Given the description of an element on the screen output the (x, y) to click on. 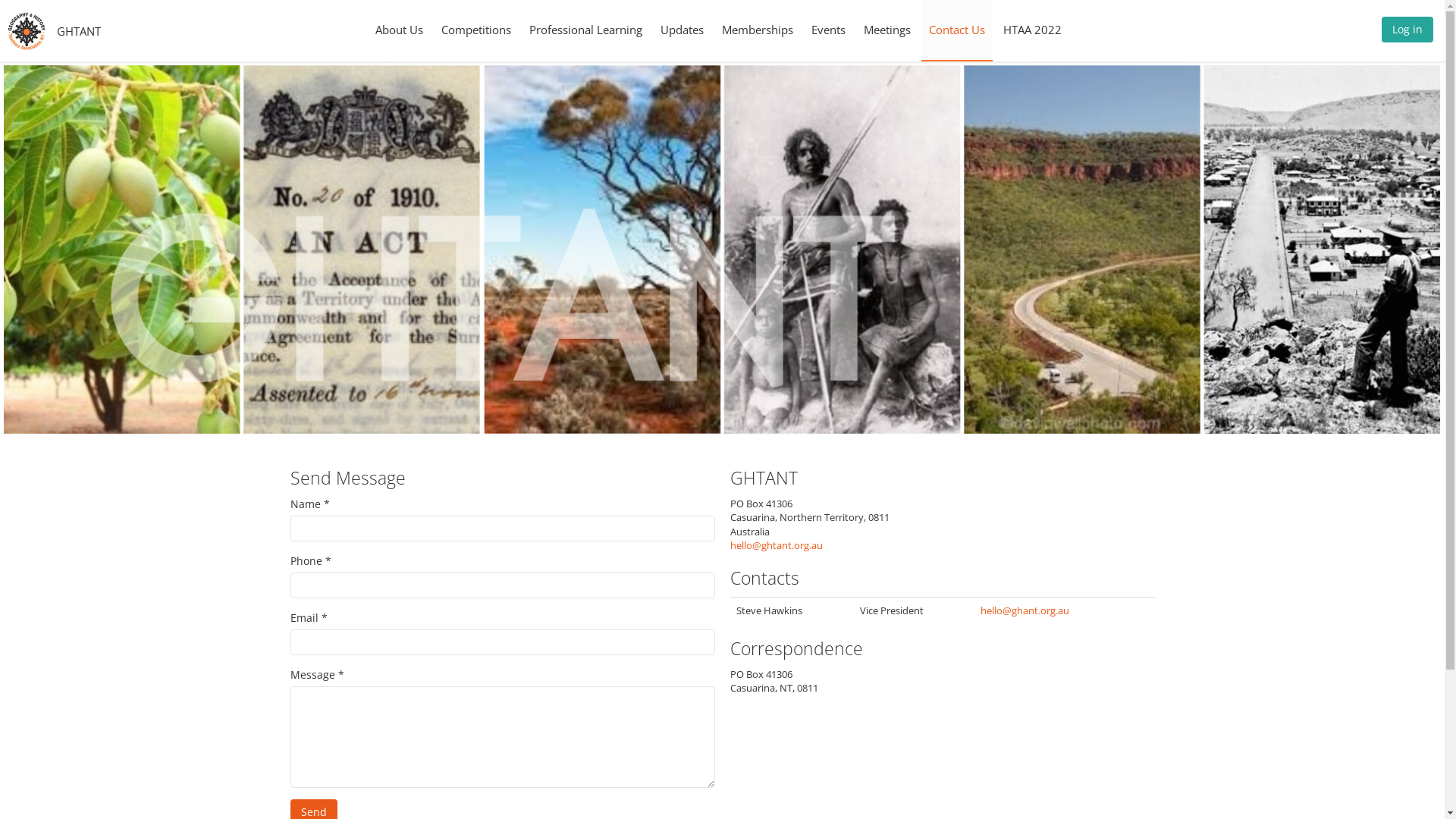
Professional Learning Element type: text (585, 29)
hello@ghtant.org.au Element type: text (775, 545)
Competitions Element type: text (475, 29)
About Us Element type: text (398, 29)
Memberships Element type: text (757, 29)
Contact Us Element type: text (956, 30)
Log in Element type: text (1407, 32)
Events Element type: text (828, 29)
hello@ghant.org.au Element type: text (1024, 610)
Meetings Element type: text (887, 29)
Updates Element type: text (681, 29)
HTAA 2022 Element type: text (1032, 29)
GHTANT Element type: text (78, 29)
